Given the description of an element on the screen output the (x, y) to click on. 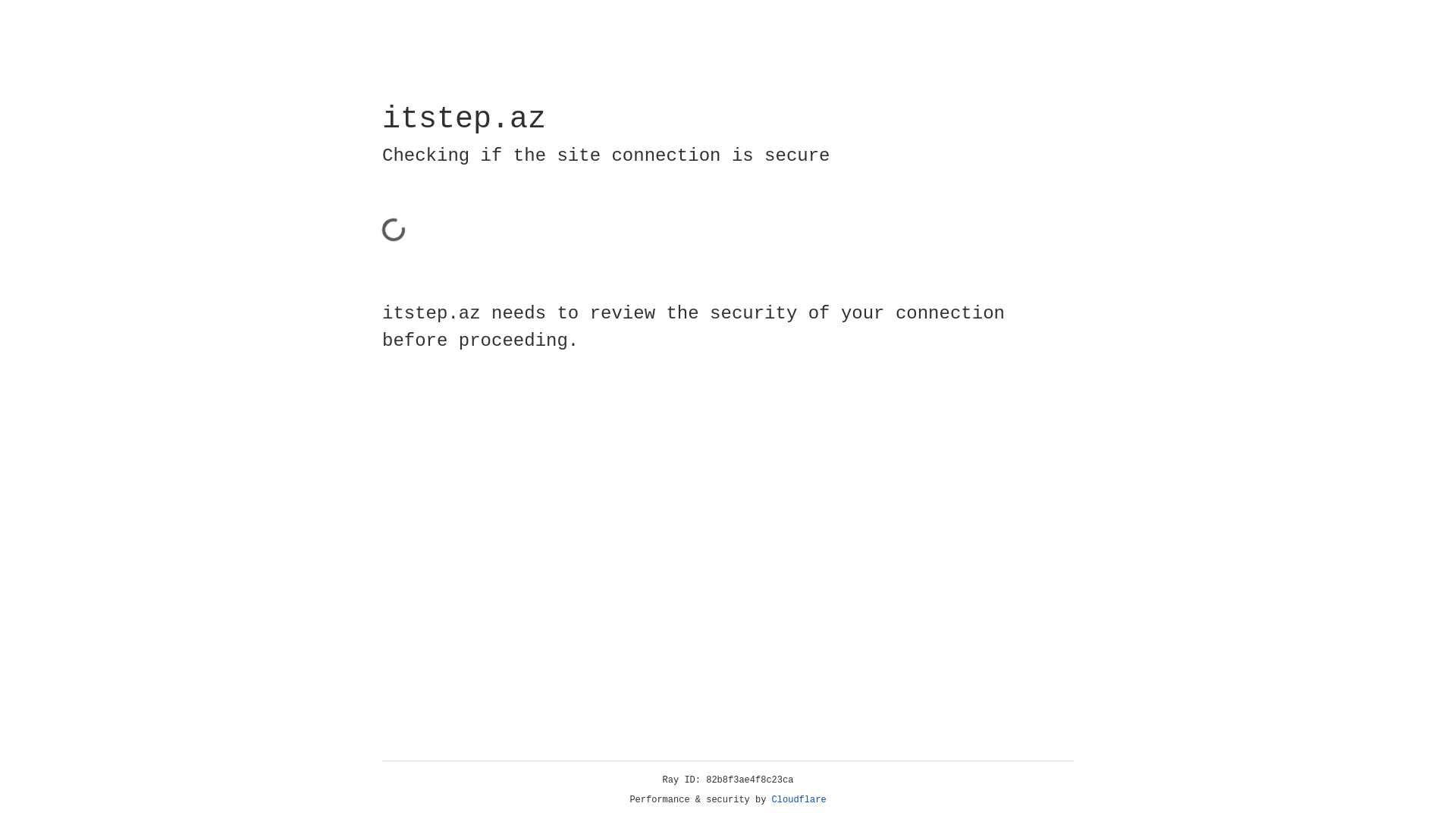
Cloudflare Element type: text (798, 799)
